Given the description of an element on the screen output the (x, y) to click on. 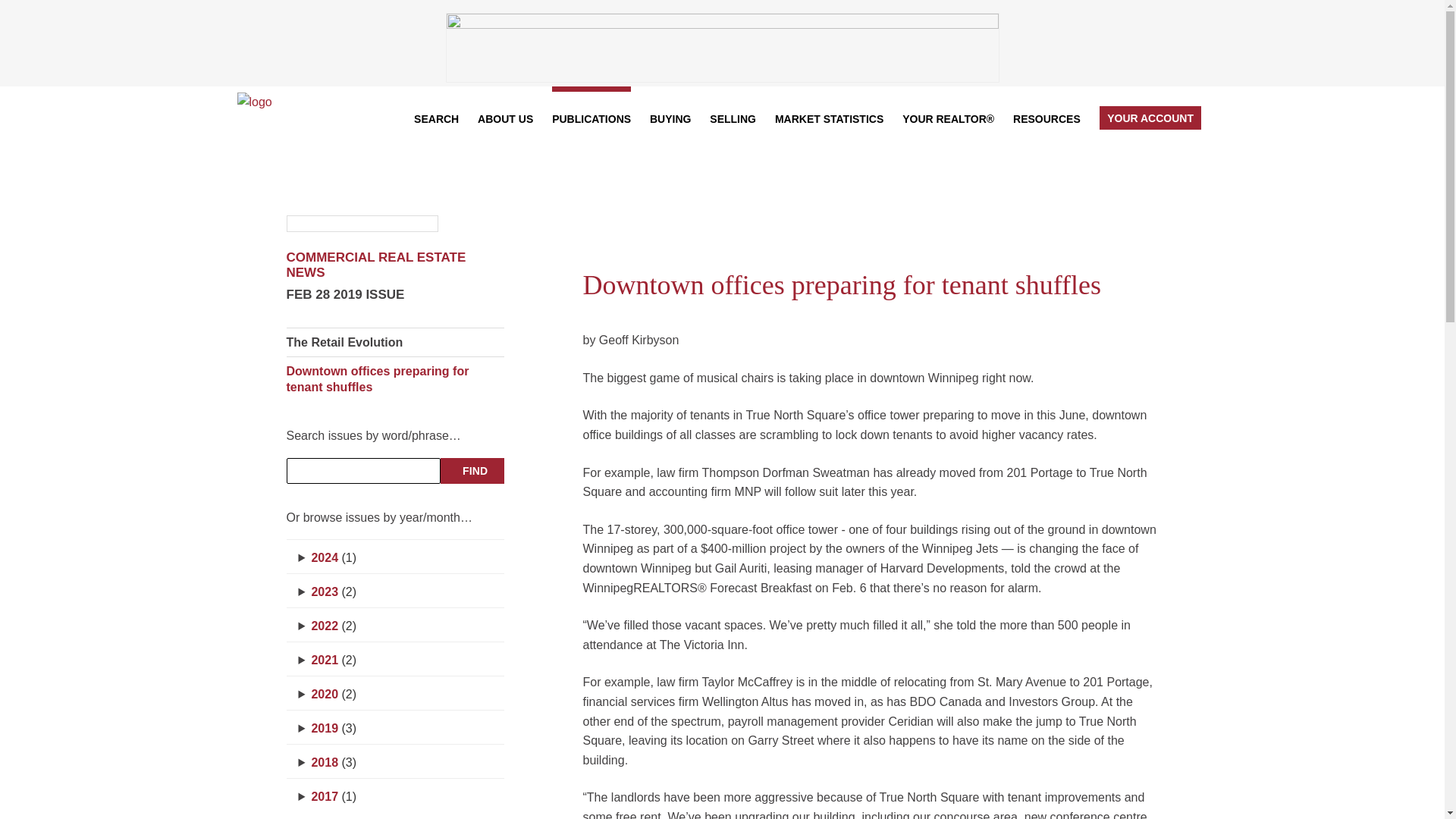
PUBLICATIONS (590, 116)
YOUR ACCOUNT (1150, 116)
Find (472, 470)
MARKET STATISTICS (828, 116)
ABOUT US (504, 116)
Downtown offices preparing for tenant shuffles (380, 379)
RESOURCES (1046, 116)
Find (472, 470)
The Retail Evolution (344, 342)
